Given the description of an element on the screen output the (x, y) to click on. 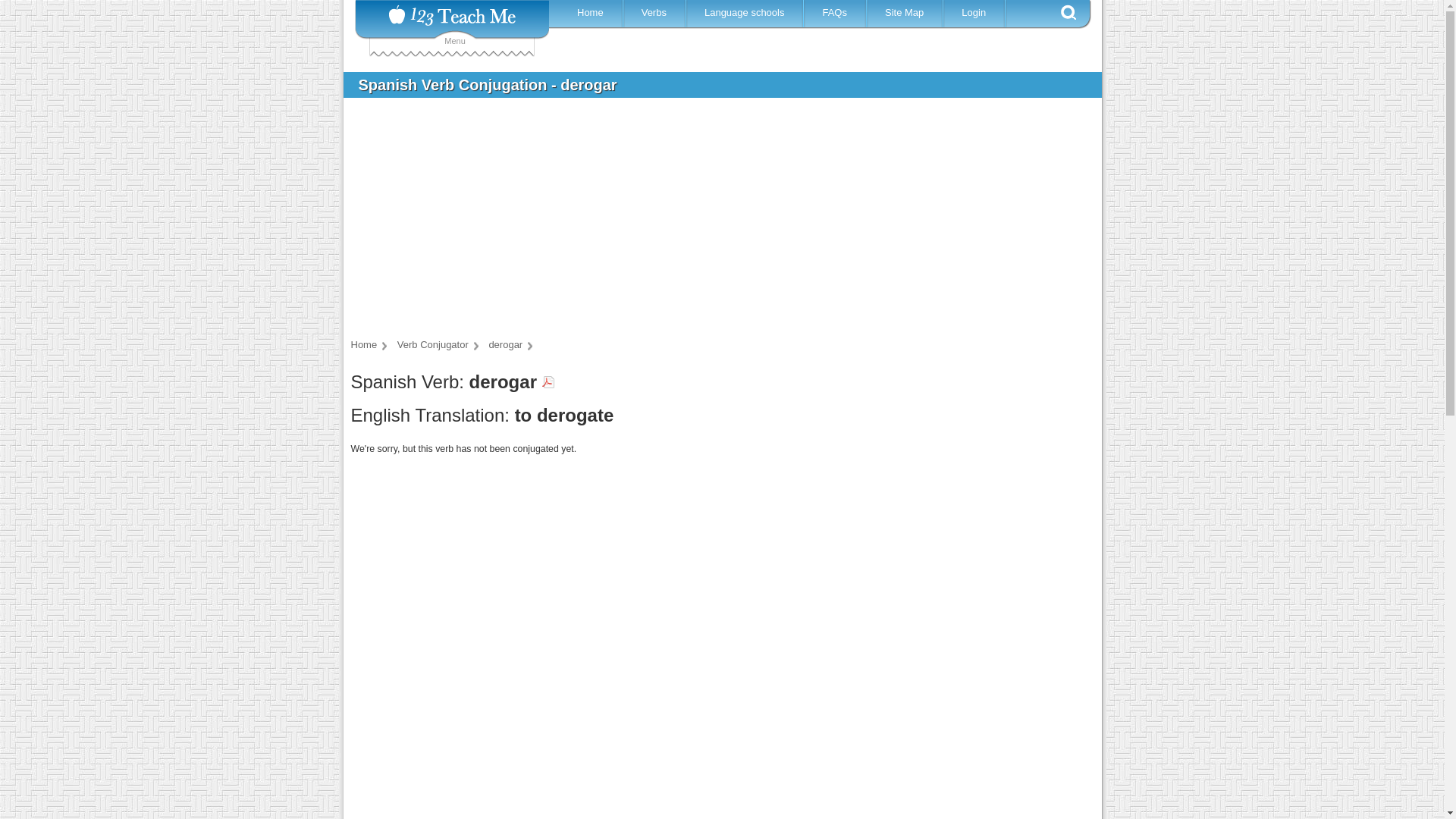
Site Map Element type: text (905, 12)
Verb Conjugator Element type: text (437, 344)
Language schools Element type: text (746, 12)
Advertisement Element type: hover (710, 222)
derogar Element type: text (510, 344)
Verbs Element type: text (655, 12)
Login Element type: text (975, 12)
FAQs Element type: text (836, 12)
Home Element type: text (591, 12)
Home Element type: text (368, 344)
